Given the description of an element on the screen output the (x, y) to click on. 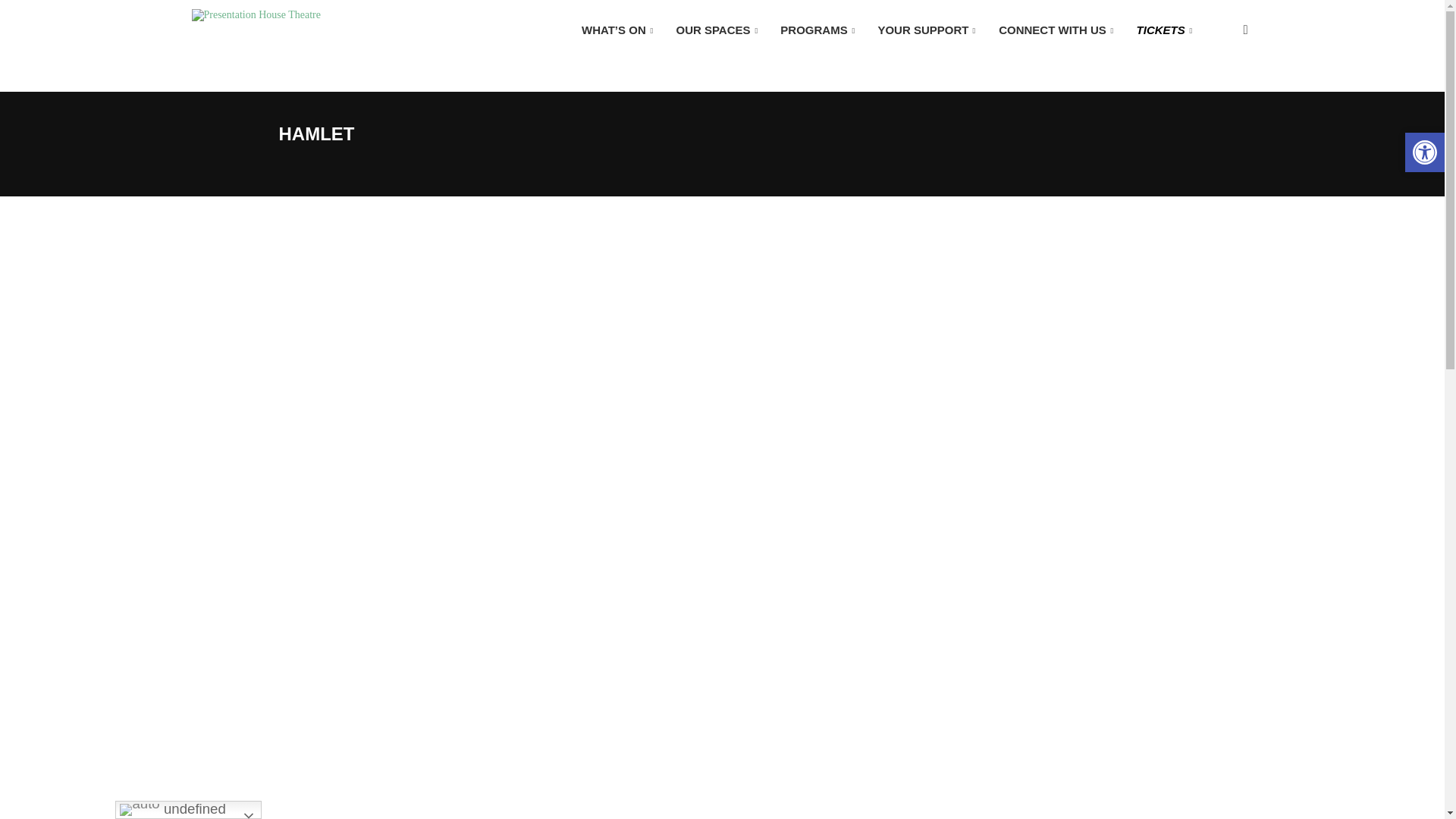
TICKETS (1164, 30)
CONNECT WITH US (1055, 30)
OUR SPACES (715, 30)
YOUR SUPPORT (926, 30)
Accessibility Tools (1424, 152)
PROGRAMS (817, 30)
